Given the description of an element on the screen output the (x, y) to click on. 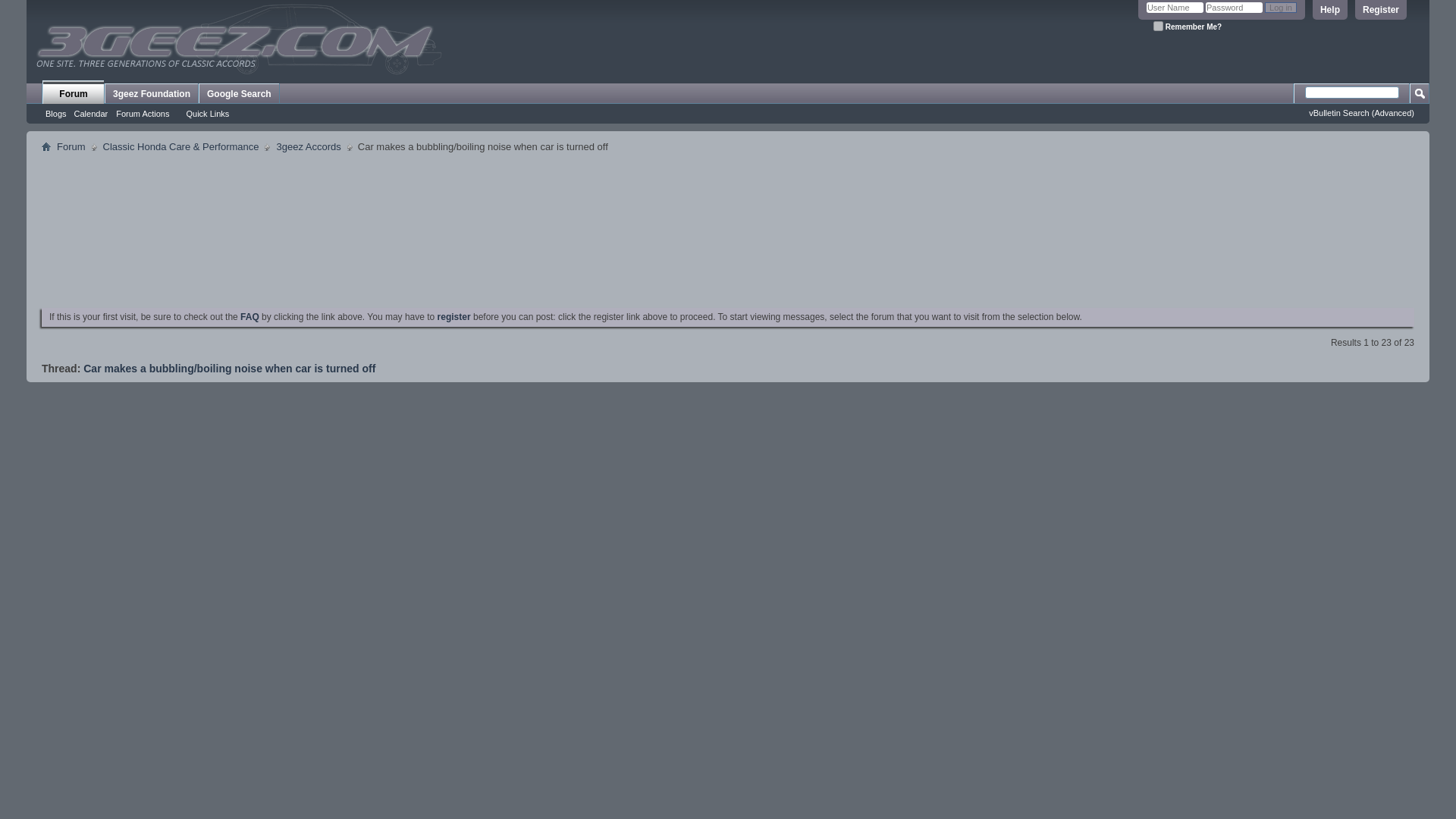
Forum (72, 92)
Password (1233, 7)
Forum Actions (146, 113)
User Name (1175, 7)
1 (1158, 26)
3geez Foundation (151, 93)
Quick Links (210, 113)
3geez Accords (307, 146)
Blogs (55, 113)
Calendar (90, 113)
Reload this Page (228, 368)
FAQ (249, 317)
Log in (1281, 7)
register (454, 317)
